Given the description of an element on the screen output the (x, y) to click on. 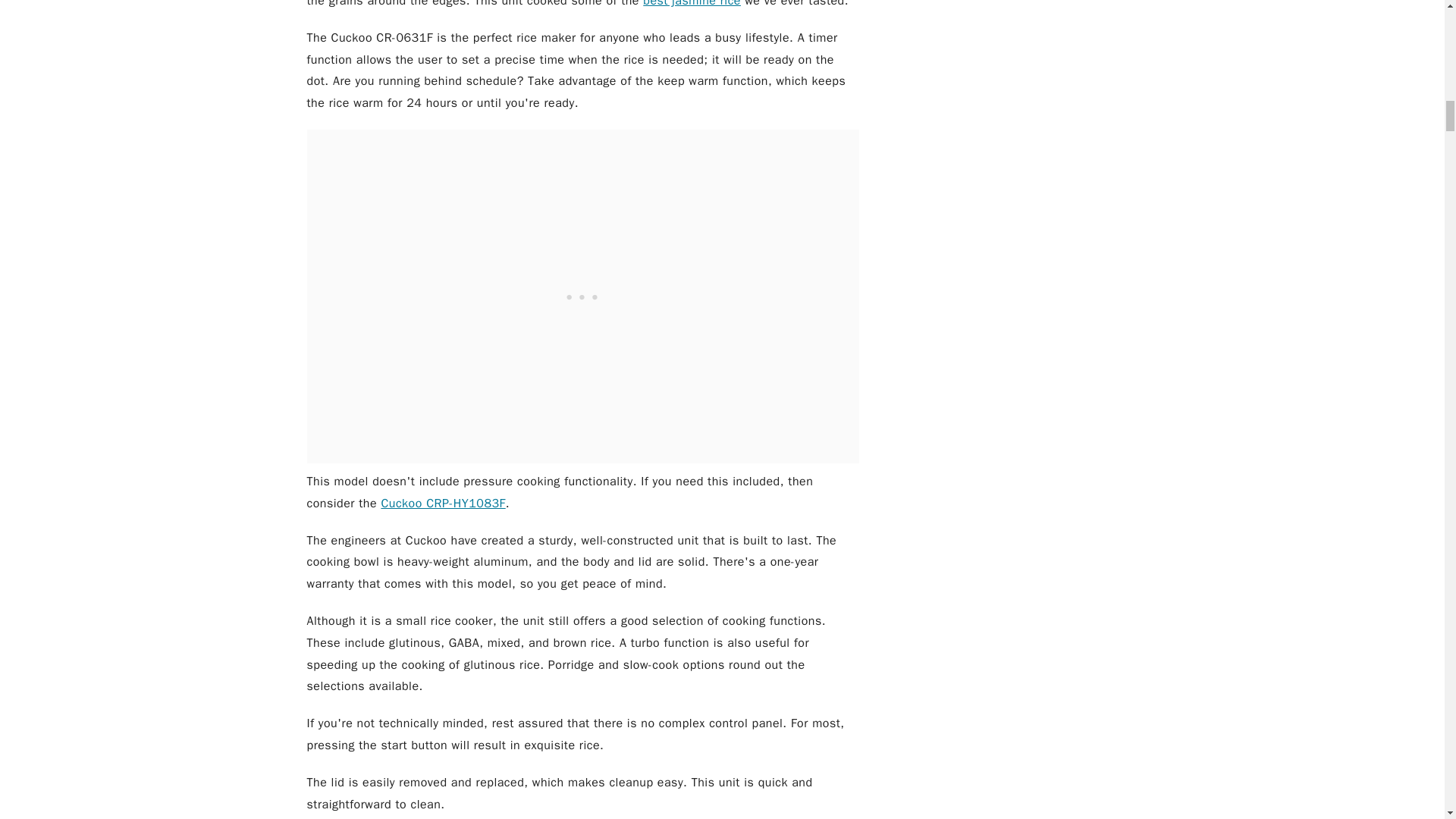
Cuckoo CRP-HY1083F (442, 503)
